Given the description of an element on the screen output the (x, y) to click on. 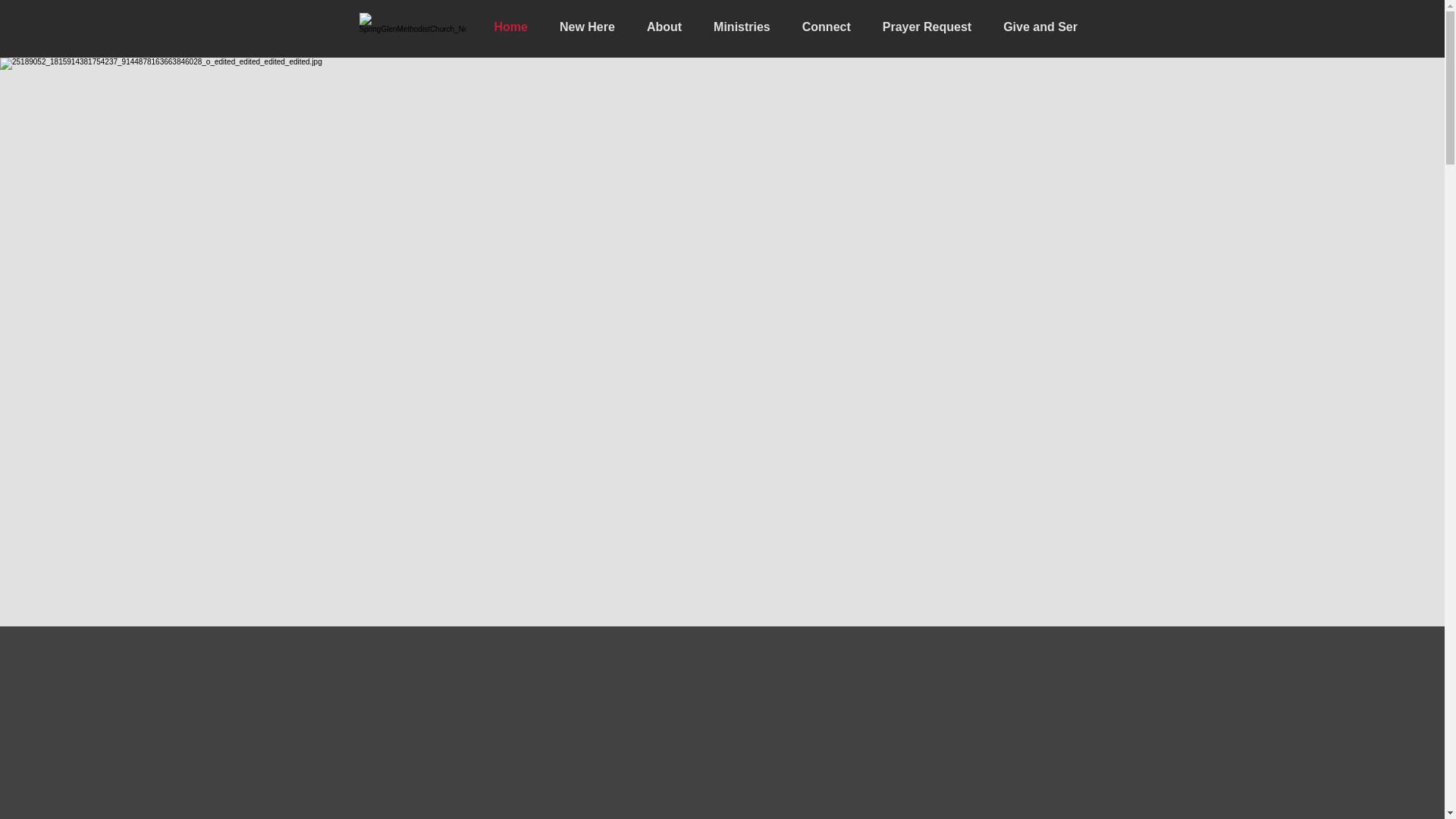
New Here (586, 25)
Connect (826, 25)
Home (510, 25)
Give and Serve (1046, 25)
Prayer Request (926, 25)
